Given the description of an element on the screen output the (x, y) to click on. 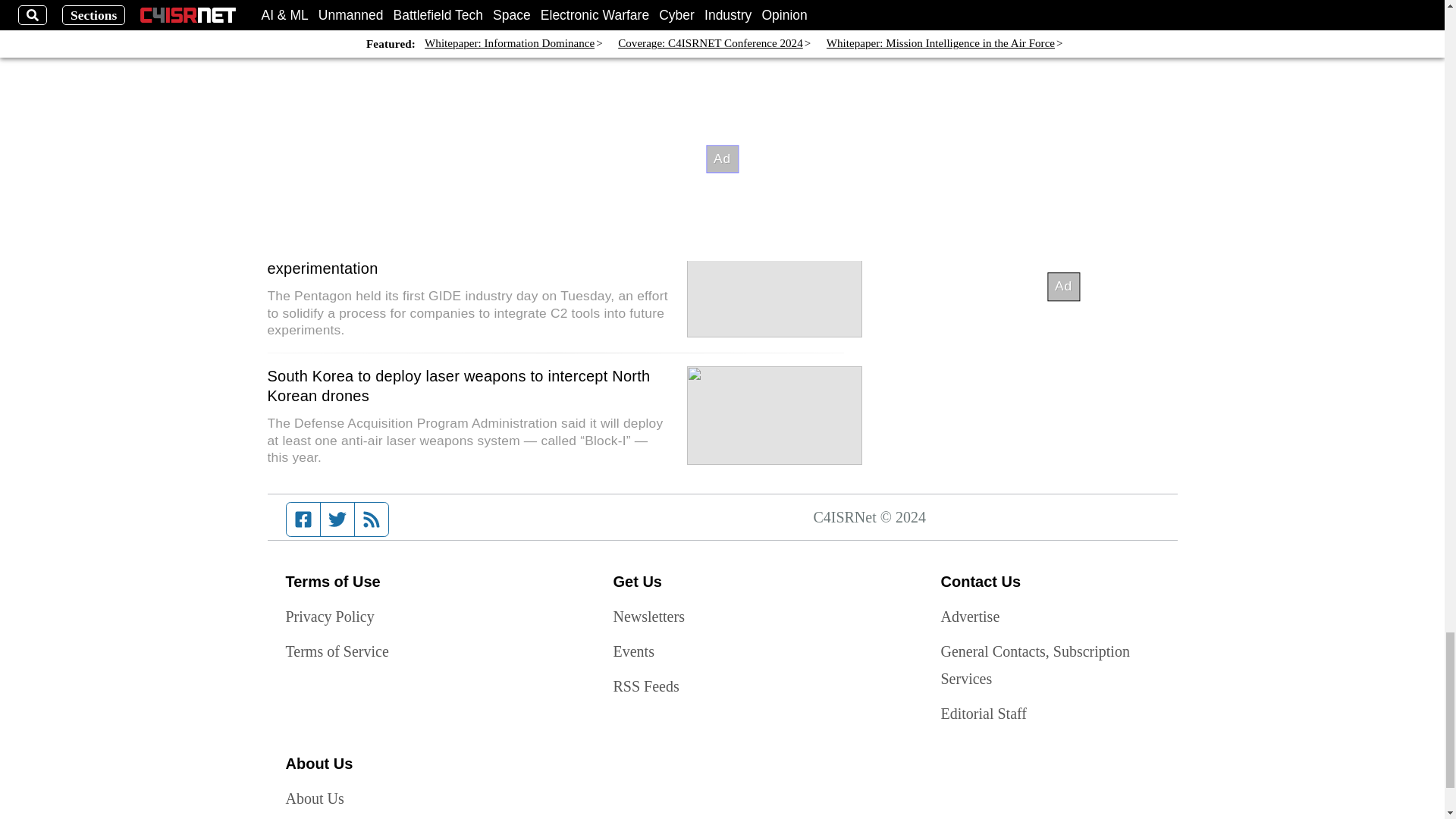
Twitter feed (336, 519)
Facebook page (303, 519)
RSS feed (371, 519)
